Given the description of an element on the screen output the (x, y) to click on. 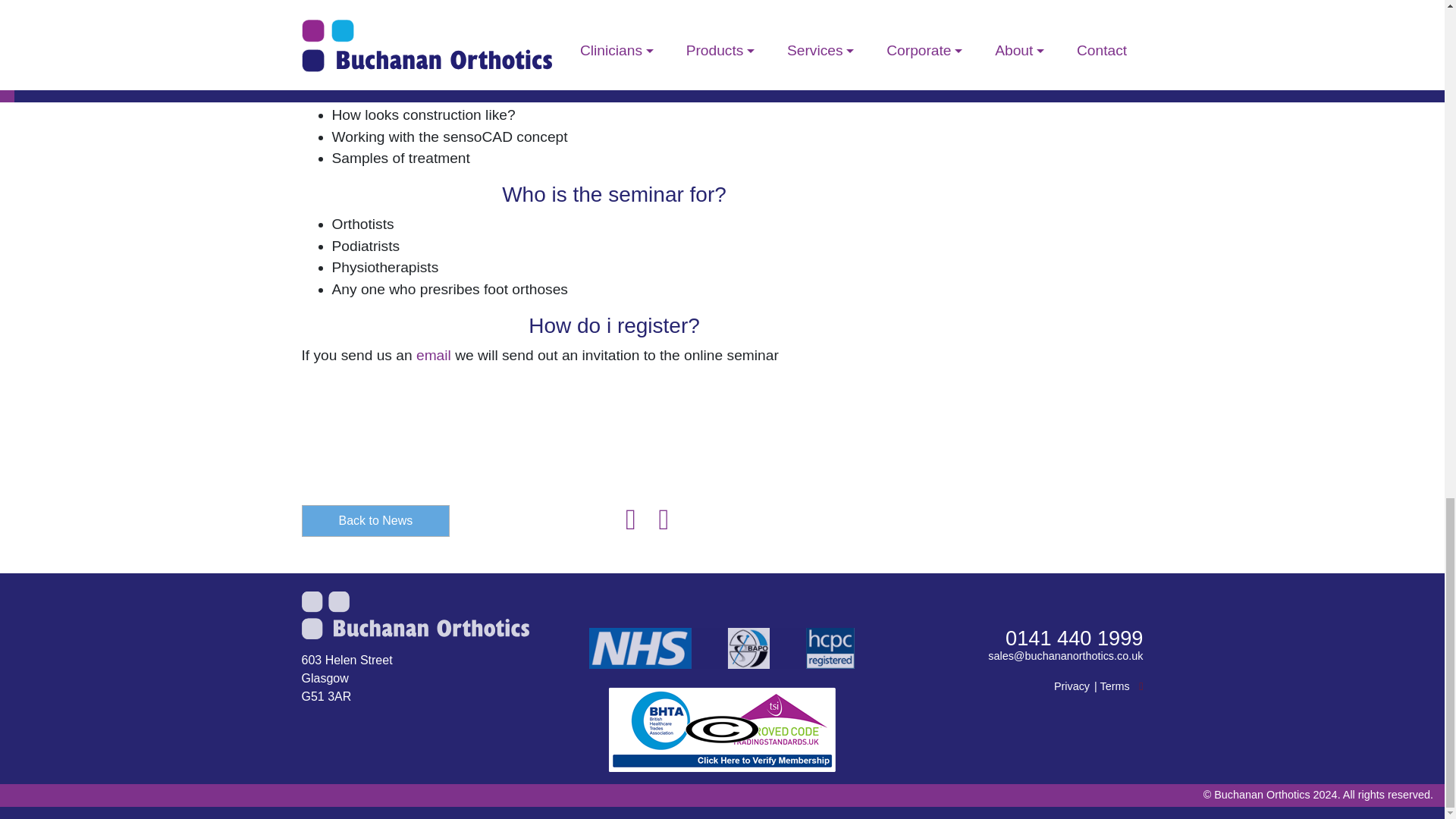
Share a link to this page on Twitter (633, 524)
